Given the description of an element on the screen output the (x, y) to click on. 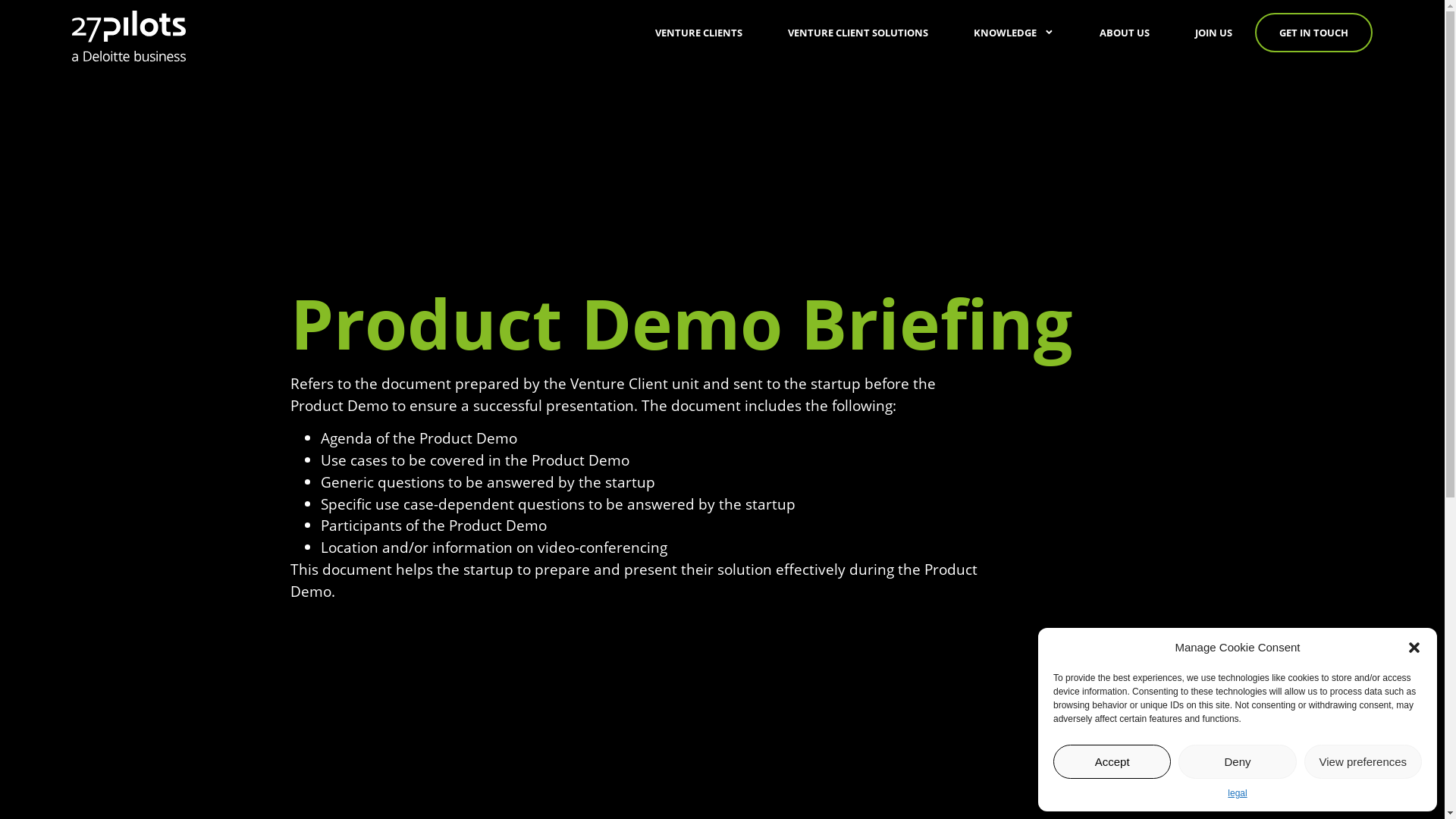
Deny Element type: text (1236, 761)
legal Element type: text (1236, 793)
KNOWLEDGE Element type: text (1013, 31)
VENTURE CLIENT SOLUTIONS Element type: text (857, 31)
JOIN US Element type: text (1213, 31)
ABOUT US Element type: text (1124, 31)
VENTURE CLIENTS Element type: text (698, 31)
Accept Element type: text (1111, 761)
View preferences Element type: text (1362, 761)
GET IN TOUCH Element type: text (1313, 31)
